Given the description of an element on the screen output the (x, y) to click on. 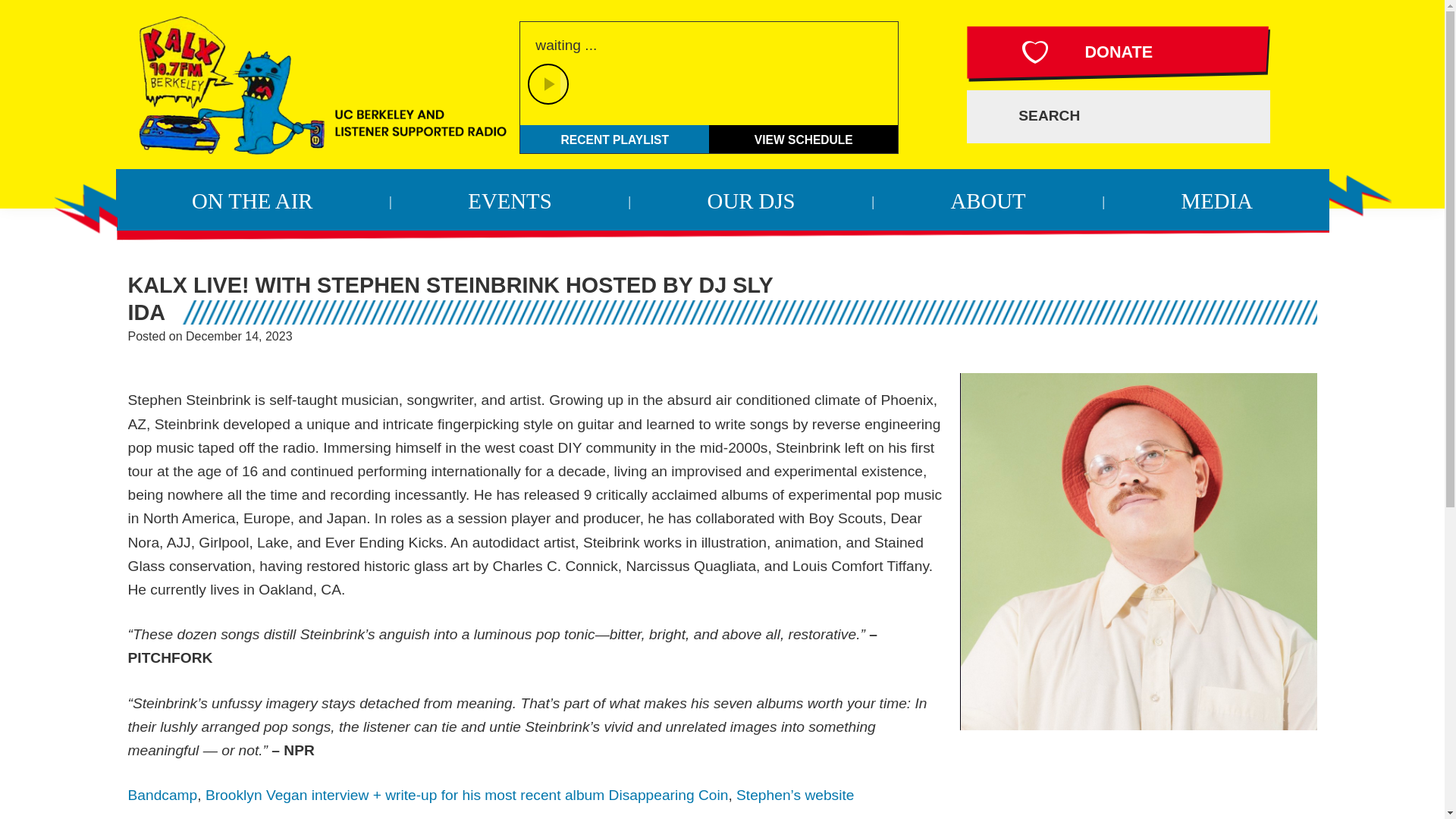
VIEW SCHEDULE (803, 139)
DONATE (1117, 53)
RECENT PLAYLIST (614, 139)
